Given the description of an element on the screen output the (x, y) to click on. 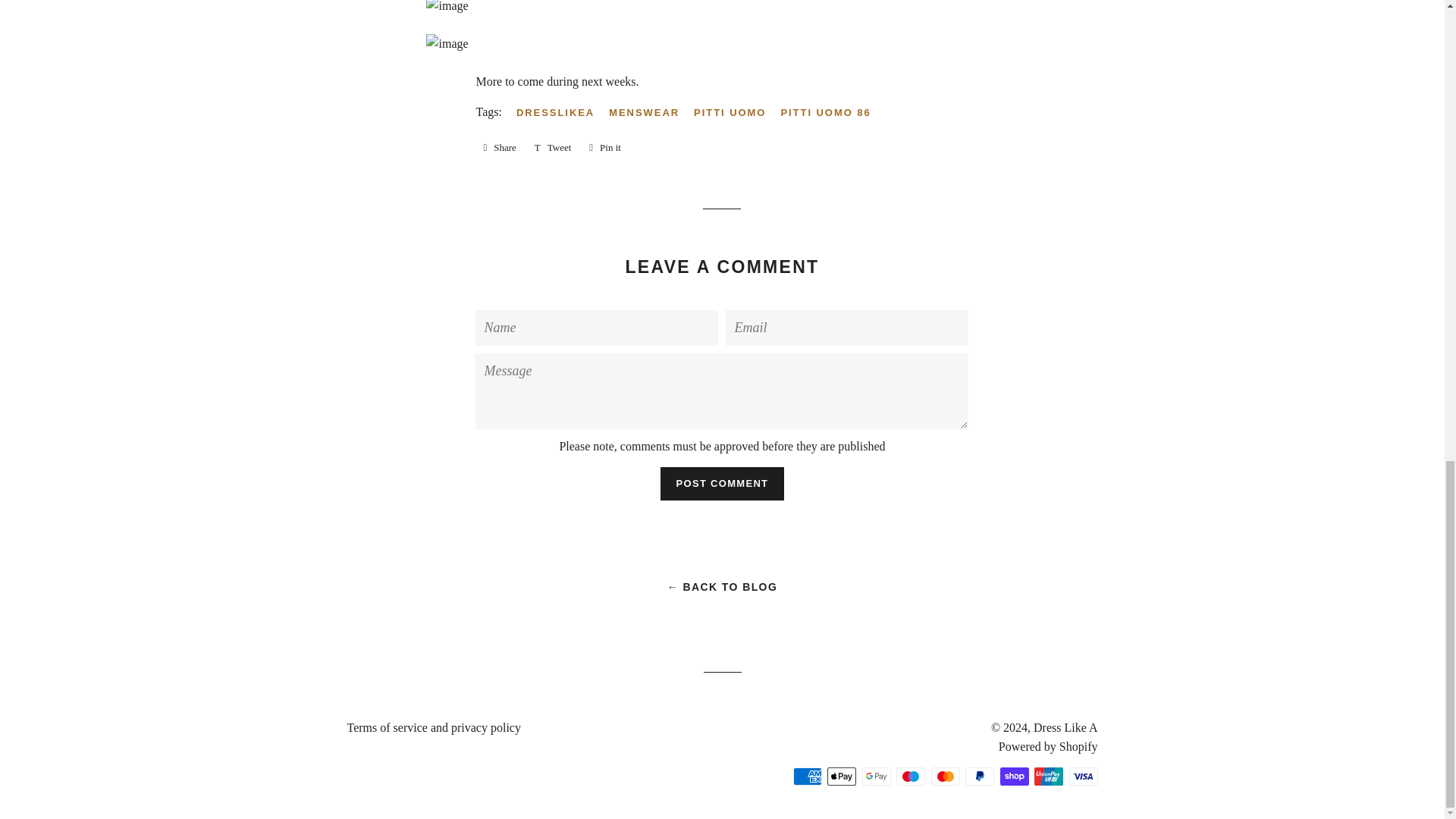
Post comment (553, 147)
Pin on Pinterest (722, 483)
Union Pay (604, 147)
Tweet on Twitter (604, 147)
Terms of service and privacy policy (499, 147)
MENSWEAR (1047, 776)
DRESSLIKEA (553, 147)
